Given the description of an element on the screen output the (x, y) to click on. 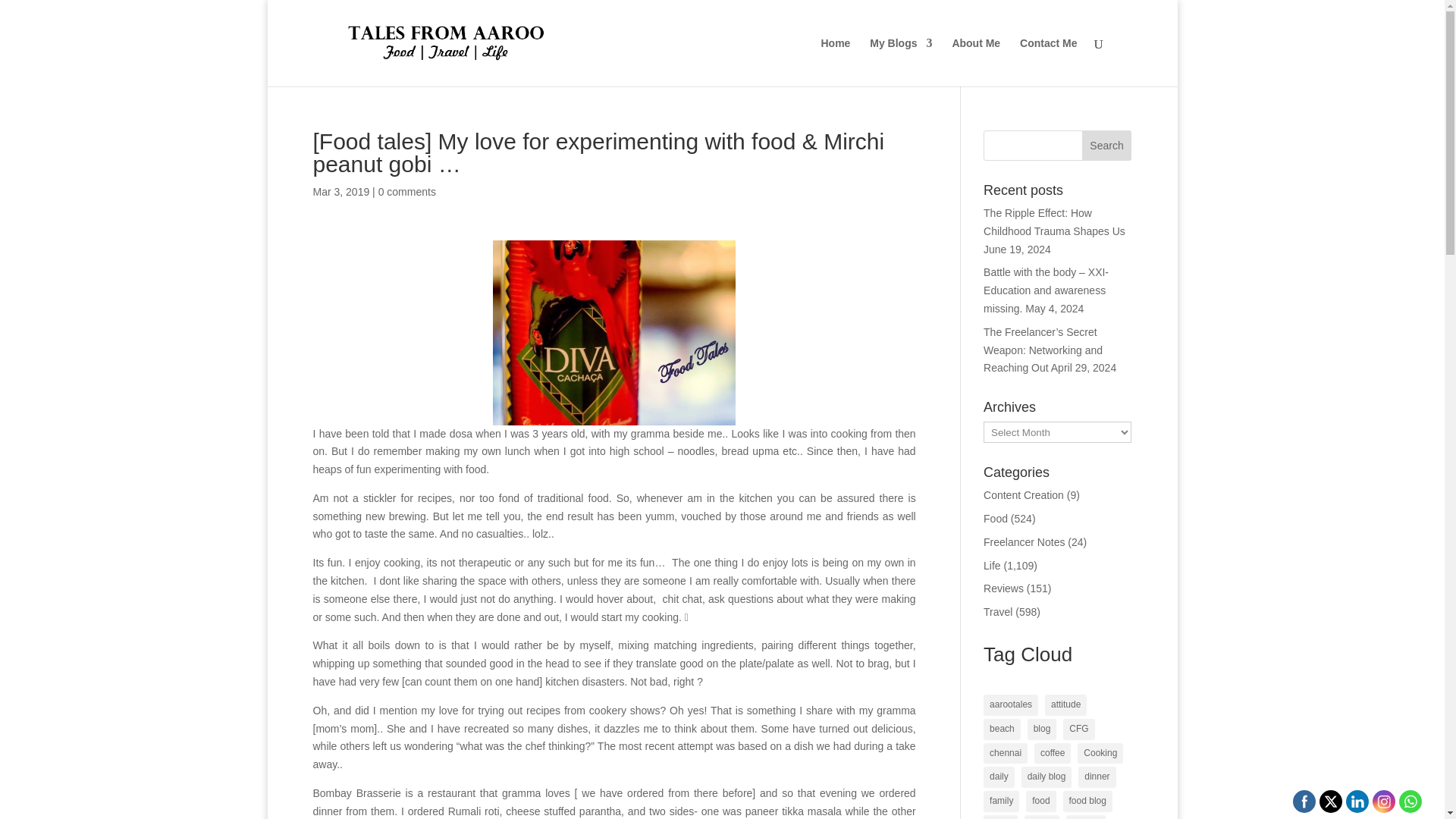
Food (995, 518)
beach (1002, 729)
Content Creation (1024, 494)
About Me (976, 61)
LinkedIn (1357, 801)
attitude (1065, 704)
coffee (1051, 753)
Facebook (1304, 801)
Travel (997, 612)
Freelancer Notes (1024, 541)
Life (992, 565)
The Ripple Effect: How Childhood Trauma Shapes Us (1054, 222)
CFG (1078, 729)
chennai (1005, 753)
aarootales (1011, 704)
